Given the description of an element on the screen output the (x, y) to click on. 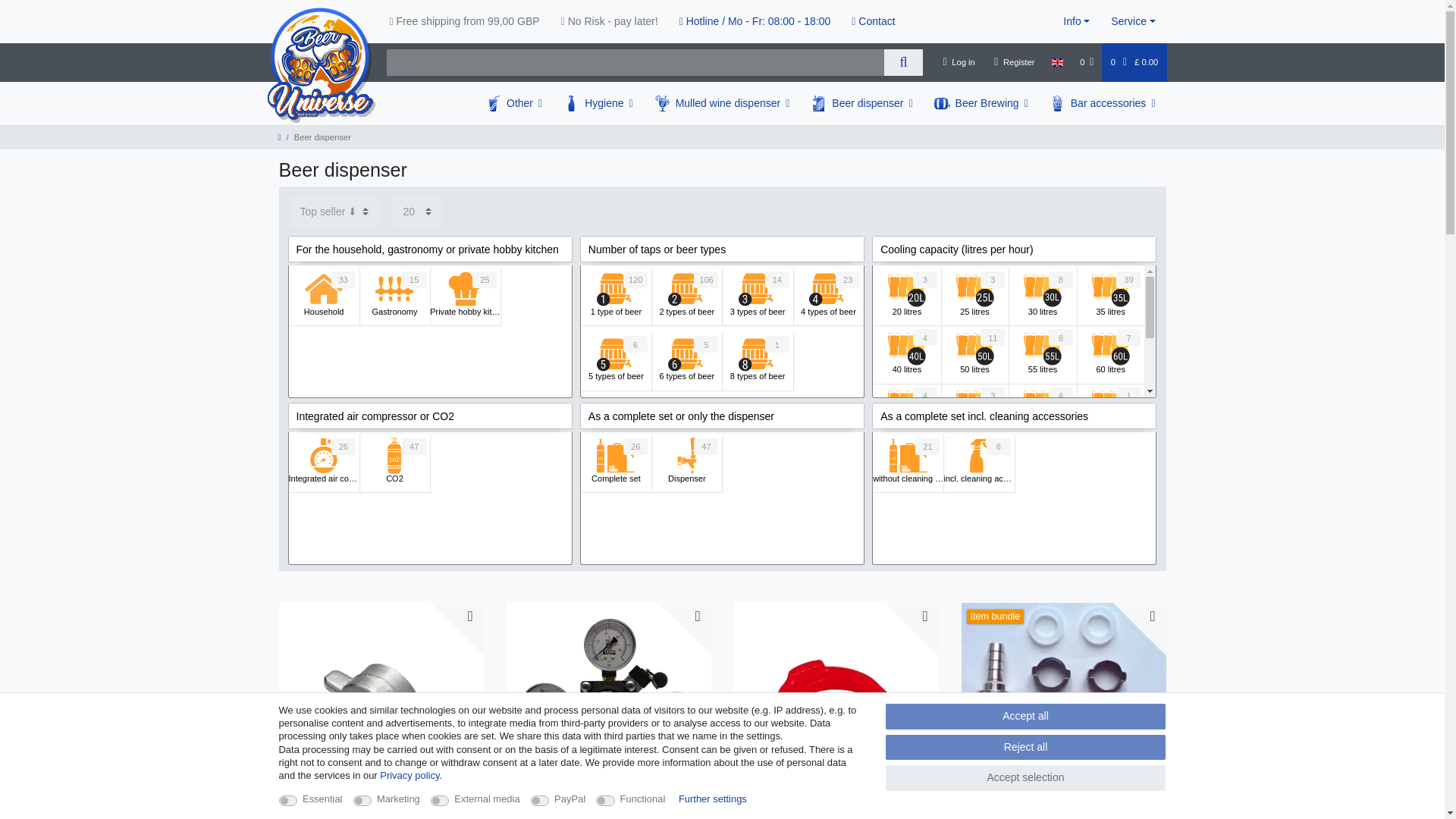
Info (1076, 21)
Free shipping from 99,00 GBP (464, 21)
Contact (873, 21)
Kontakt zu uns (873, 21)
No Risk - pay later! (609, 21)
Register (1014, 62)
Service (1133, 21)
Log in (959, 62)
Hotline (754, 21)
